Given the description of an element on the screen output the (x, y) to click on. 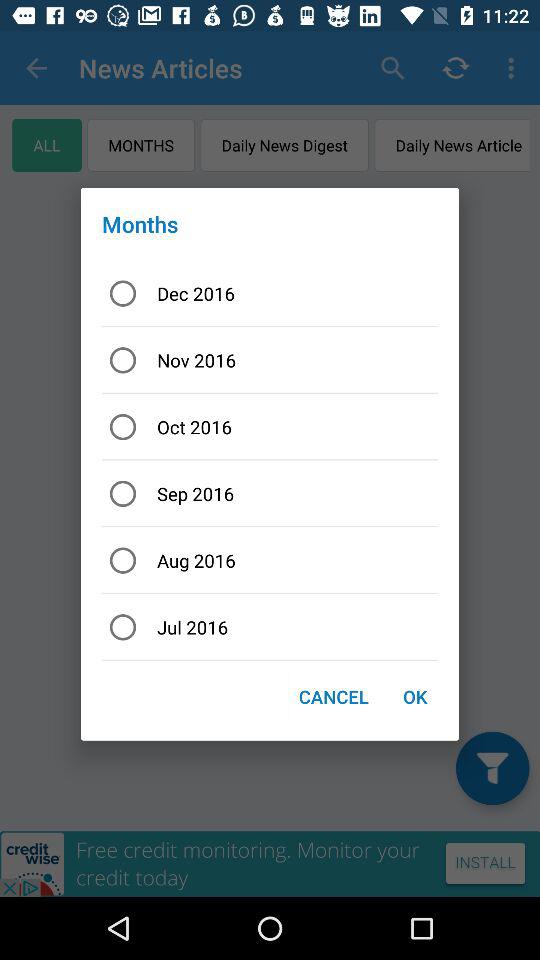
tap the sep 2016 (269, 493)
